Given the description of an element on the screen output the (x, y) to click on. 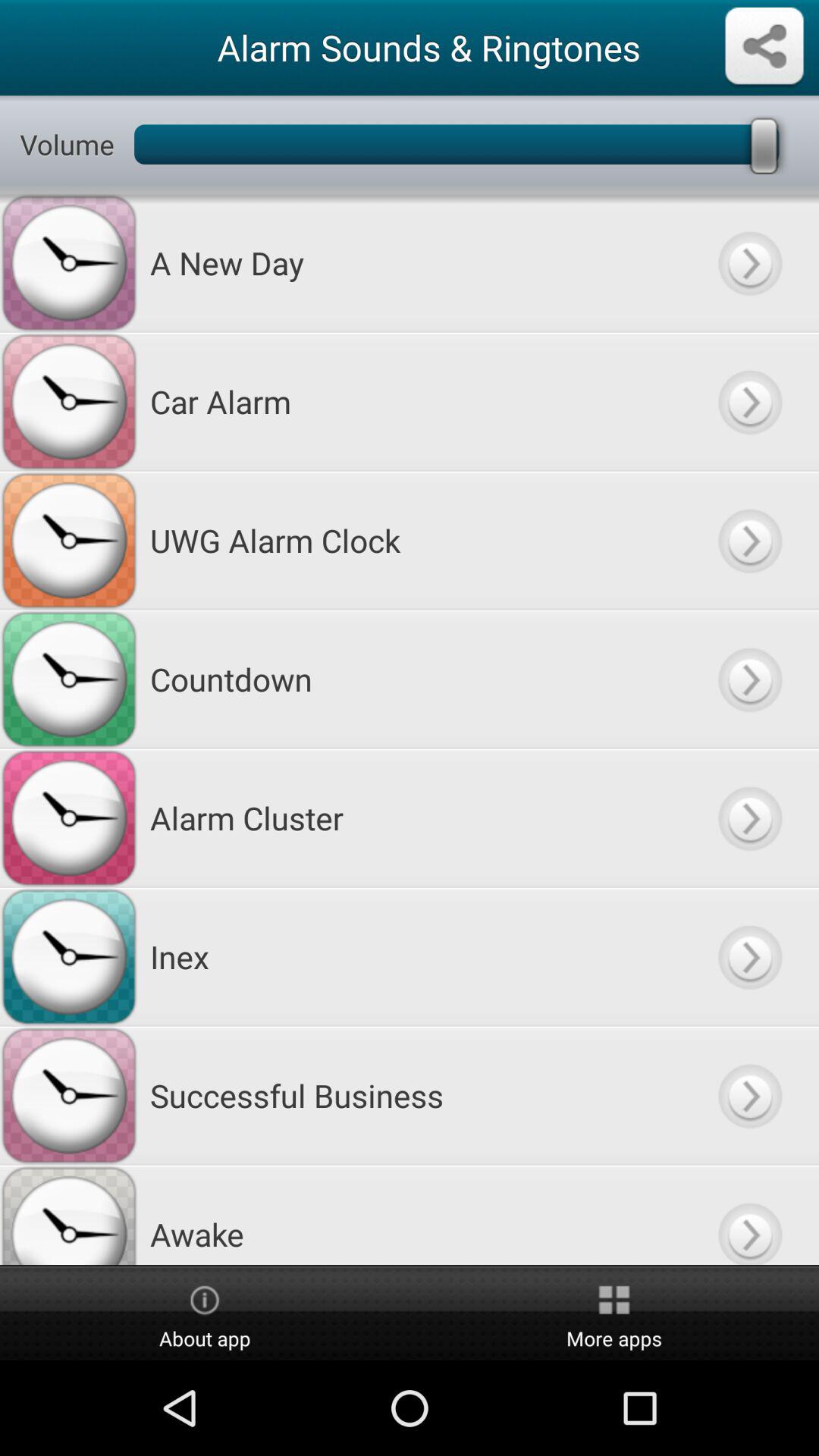
next (749, 540)
